Given the description of an element on the screen output the (x, y) to click on. 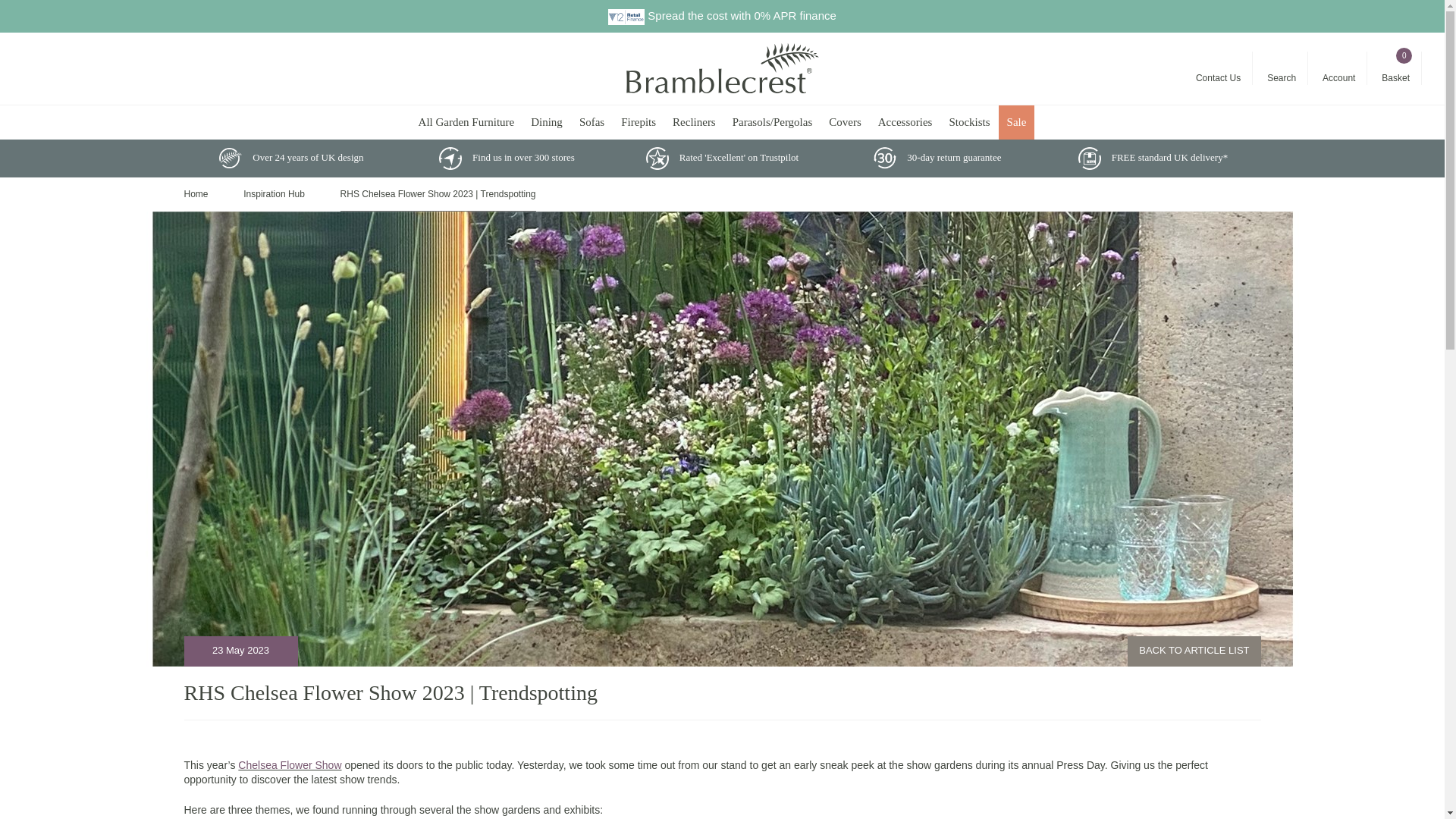
Bramblecrest Garden Furniture of Distinction (722, 67)
All Dining Sets (546, 122)
All Garden Furniture (466, 122)
Account (1338, 68)
Contact Us (1217, 68)
Dining (546, 122)
All Garden Furniture (466, 122)
Sofas (591, 122)
